Given the description of an element on the screen output the (x, y) to click on. 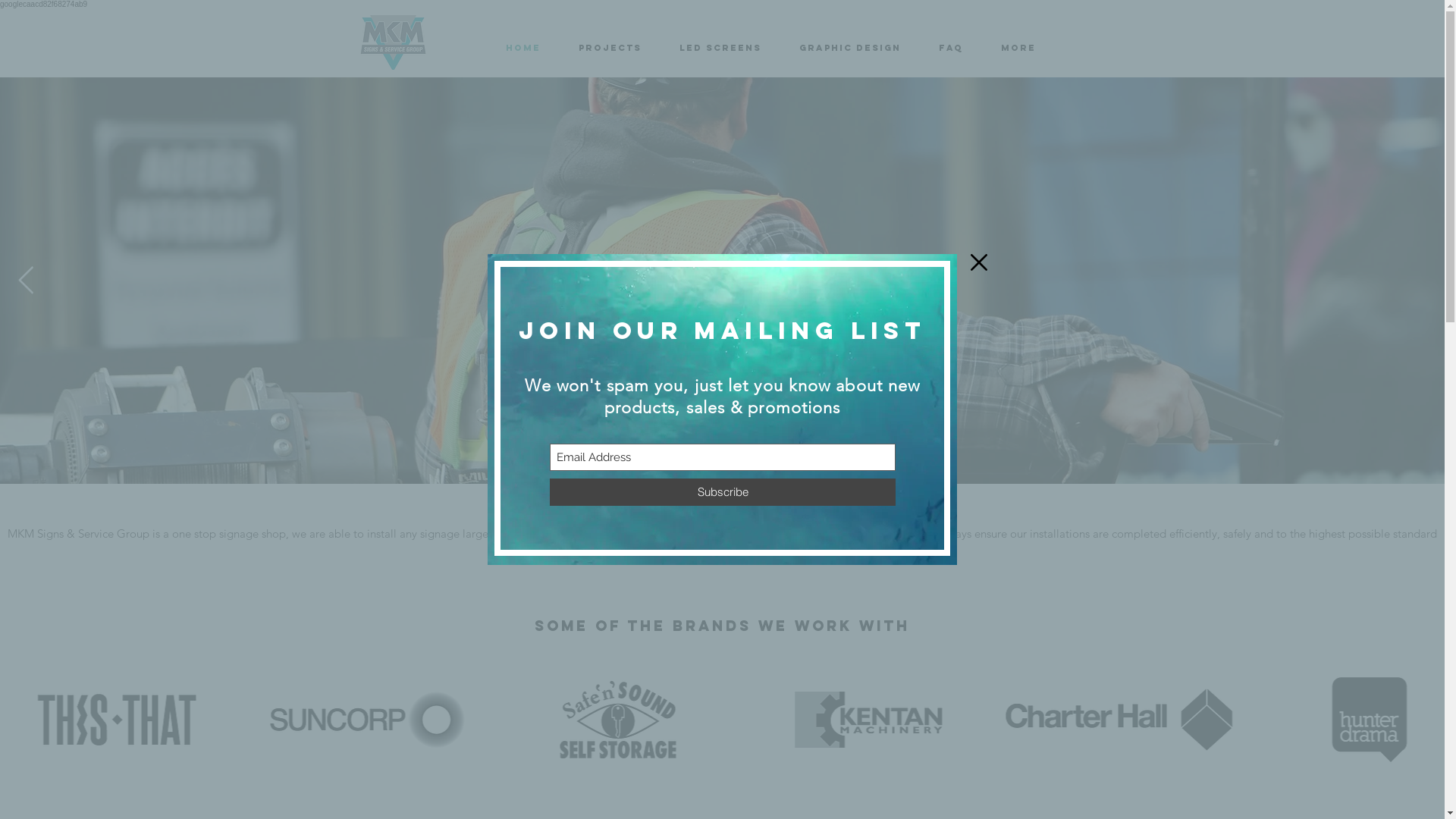
HOME Element type: text (522, 47)
PROJECTS Element type: text (609, 47)
Subscribe Element type: text (722, 491)
FAQ Element type: text (950, 47)
LED SCREENS Element type: text (719, 47)
GRAPHIC DESIGN Element type: text (849, 47)
Back to site Element type: hover (978, 262)
